Given the description of an element on the screen output the (x, y) to click on. 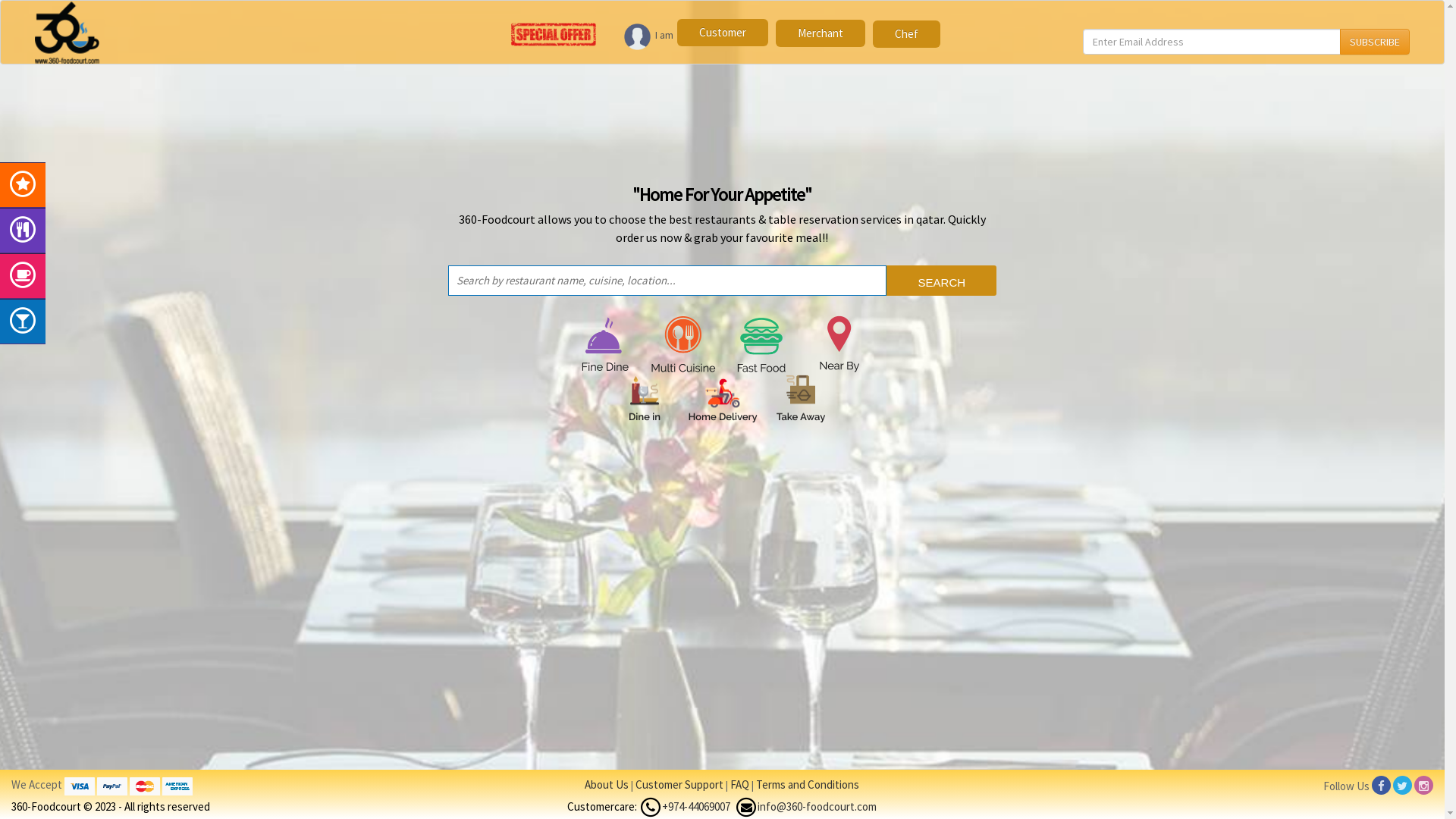
Chef Element type: text (906, 33)
Near By Element type: hover (839, 343)
Multi Cuisine Element type: hover (683, 343)
About Us Element type: text (606, 784)
Terms and Conditions Element type: text (807, 784)
SUBSCRIBE Element type: text (1374, 41)
Merchant Element type: text (820, 33)
Customer Element type: text (722, 32)
America Express Element type: hover (177, 785)
SEARCH Element type: text (941, 280)
Fine Dining Element type: hover (605, 343)
info@360-foodcourt.com Element type: text (816, 806)
Paypal Element type: hover (112, 785)
+974-44069007 Element type: text (696, 806)
Home Delivery Element type: hover (721, 398)
FAQ Element type: text (739, 784)
Take Away Element type: hover (800, 398)
Customer Support Element type: text (679, 784)
Dine in Element type: hover (644, 398)
Fast Food Element type: hover (761, 343)
Master Element type: hover (144, 785)
Visa Element type: hover (79, 785)
